Given the description of an element on the screen output the (x, y) to click on. 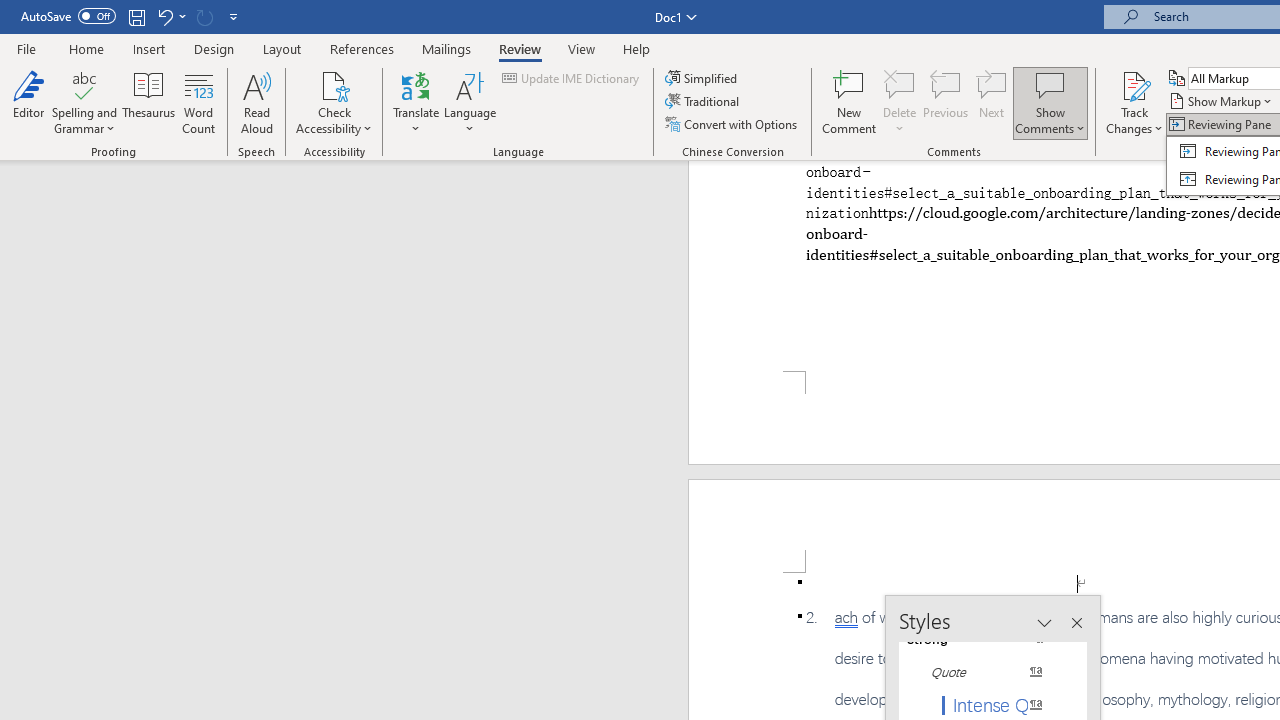
Track Changes (1134, 84)
Previous (946, 102)
Word Count (198, 102)
Simplified (702, 78)
Language (470, 102)
Quote (984, 672)
Update IME Dictionary... (572, 78)
Traditional (703, 101)
Delete (900, 102)
